Given the description of an element on the screen output the (x, y) to click on. 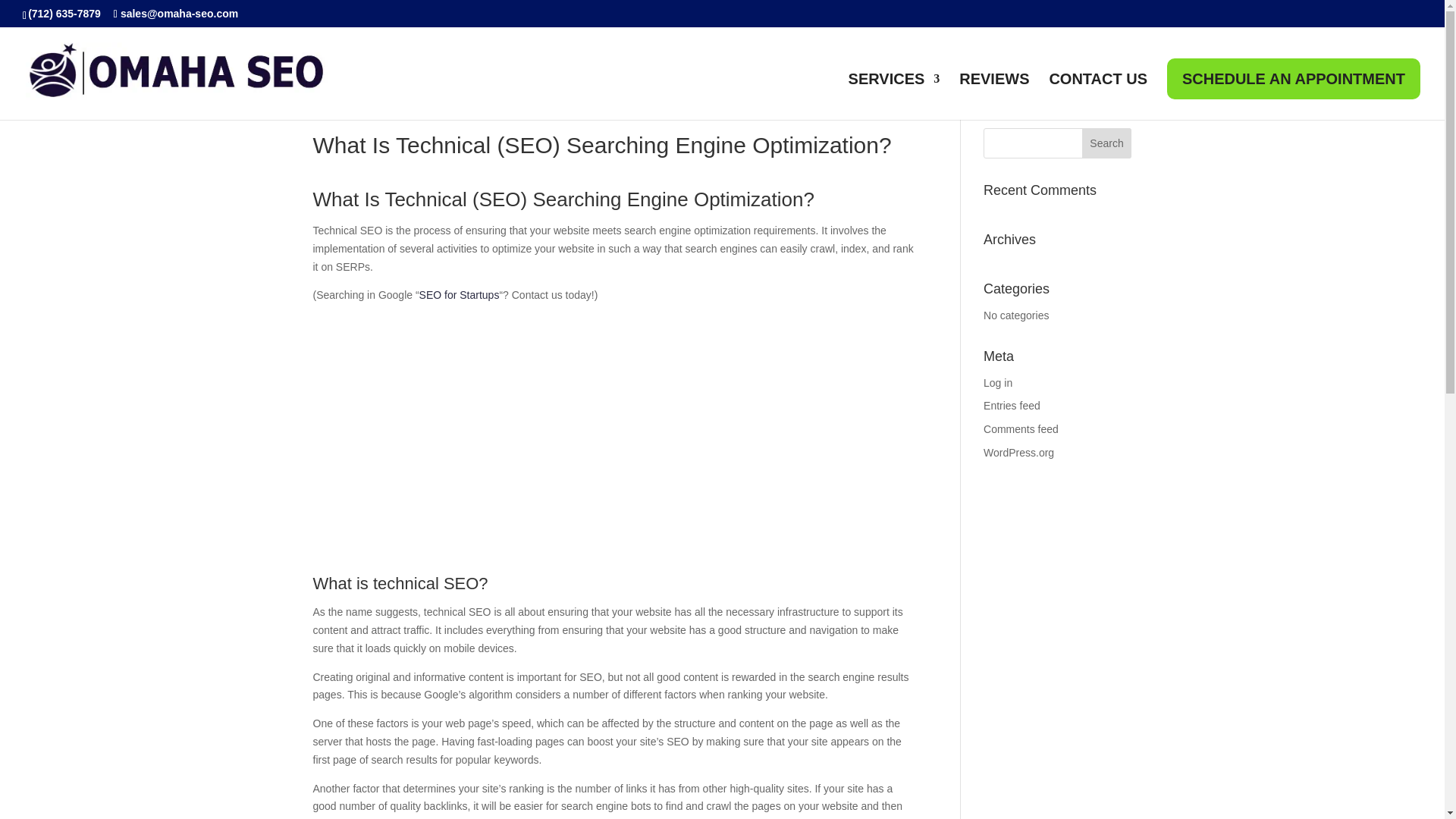
SEO for Startups (459, 295)
CONTACT US (1097, 96)
Log in (997, 382)
Entries feed (1012, 405)
Search (1106, 142)
WordPress.org (1019, 452)
Search (1106, 142)
SERVICES (894, 96)
REVIEWS (994, 96)
SCHEDULE AN APPOINTMENT (1294, 78)
